Given the description of an element on the screen output the (x, y) to click on. 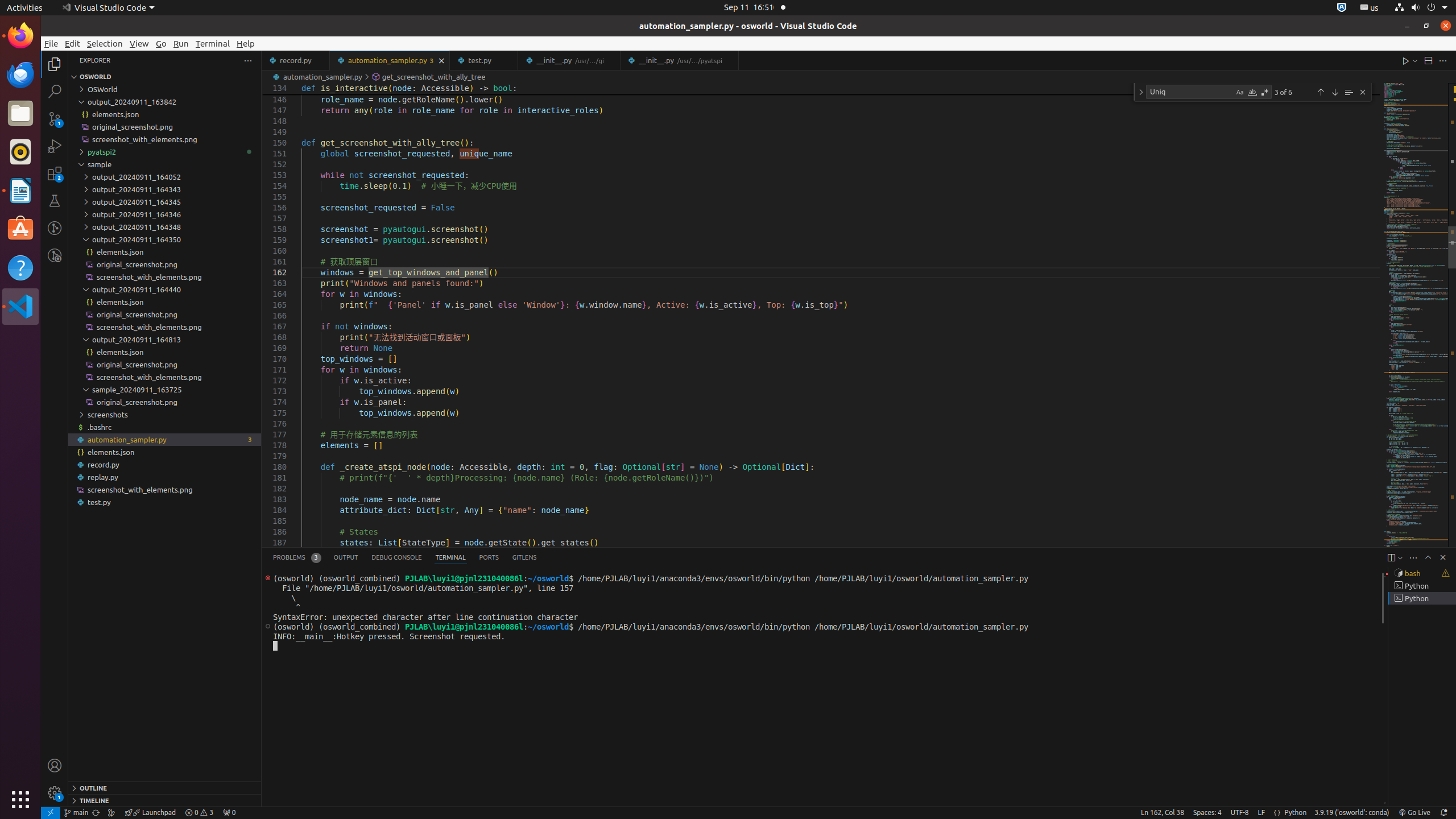
screenshots Element type: tree-item (164, 414)
Show the GitLens Commit Graph Element type: push-button (111, 812)
LF Element type: push-button (1261, 812)
OSWorld (Git) - main, Checkout Branch/Tag... Element type: push-button (75, 812)
